Given the description of an element on the screen output the (x, y) to click on. 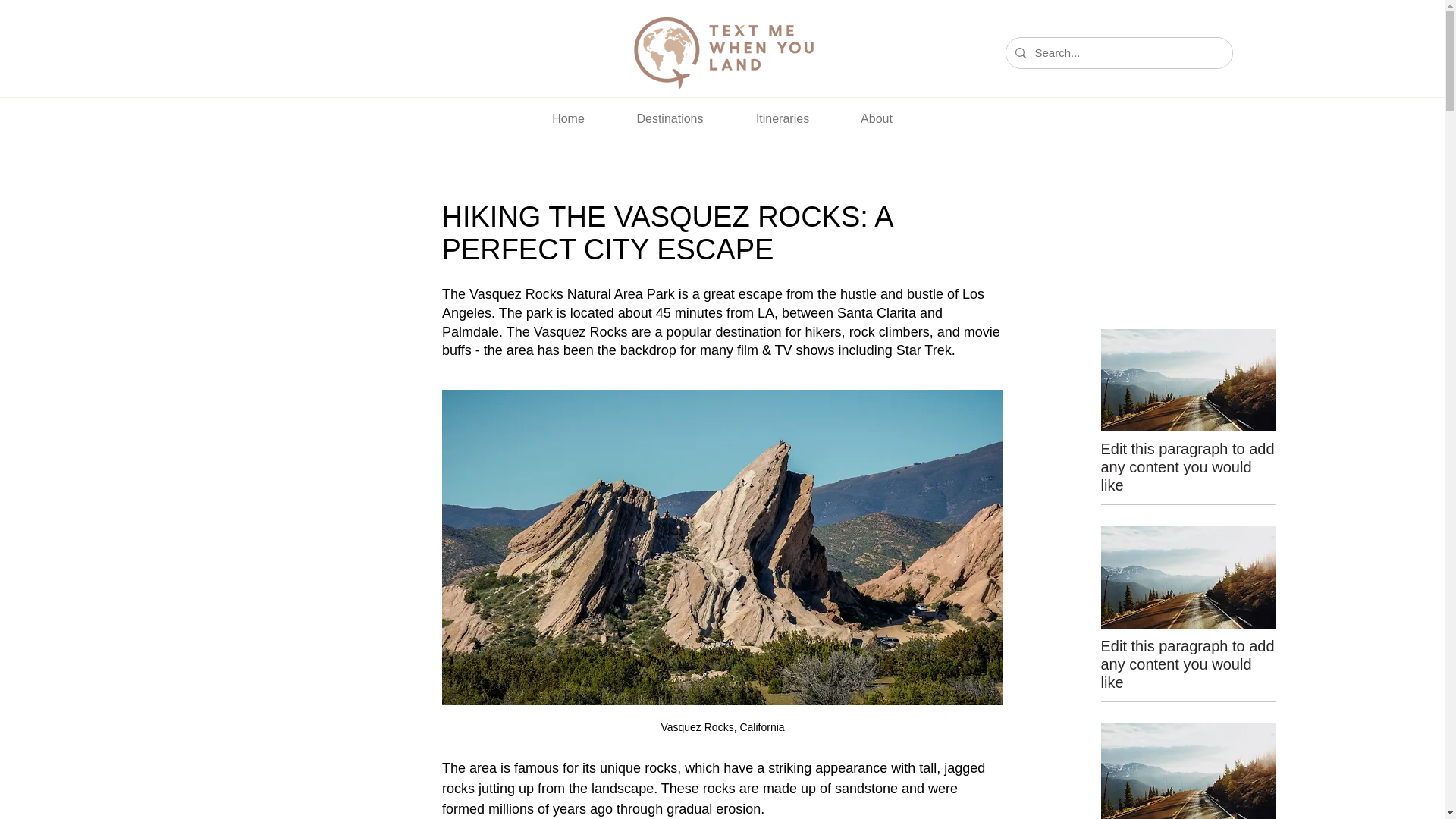
Countryside Road (1187, 771)
Home (567, 118)
Itineraries (781, 118)
Countryside Road (1187, 380)
logo-04.png (721, 52)
Countryside Road (1187, 577)
About (876, 118)
Destinations (669, 118)
